Given the description of an element on the screen output the (x, y) to click on. 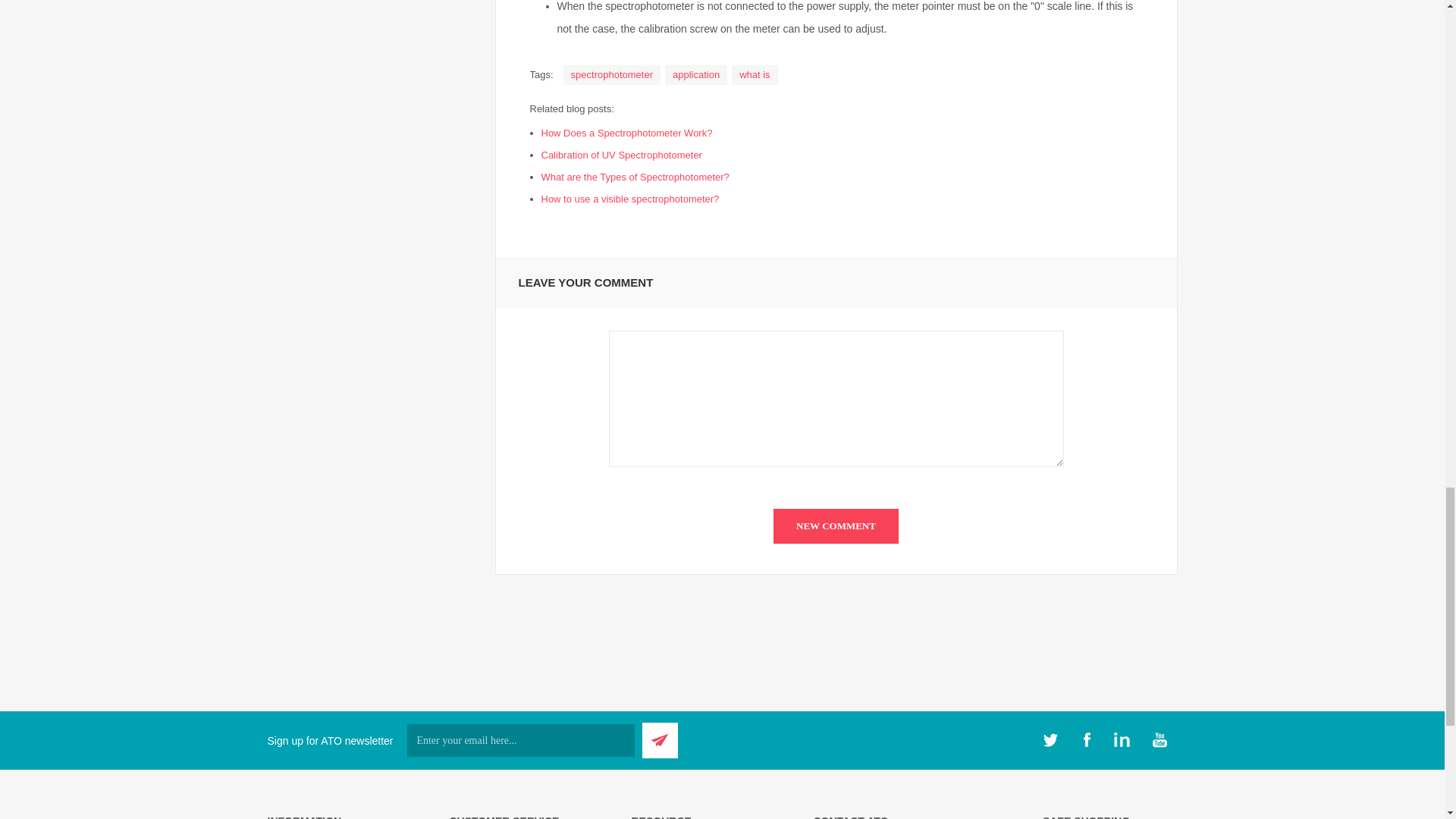
Send (660, 740)
New comment (835, 525)
